Given the description of an element on the screen output the (x, y) to click on. 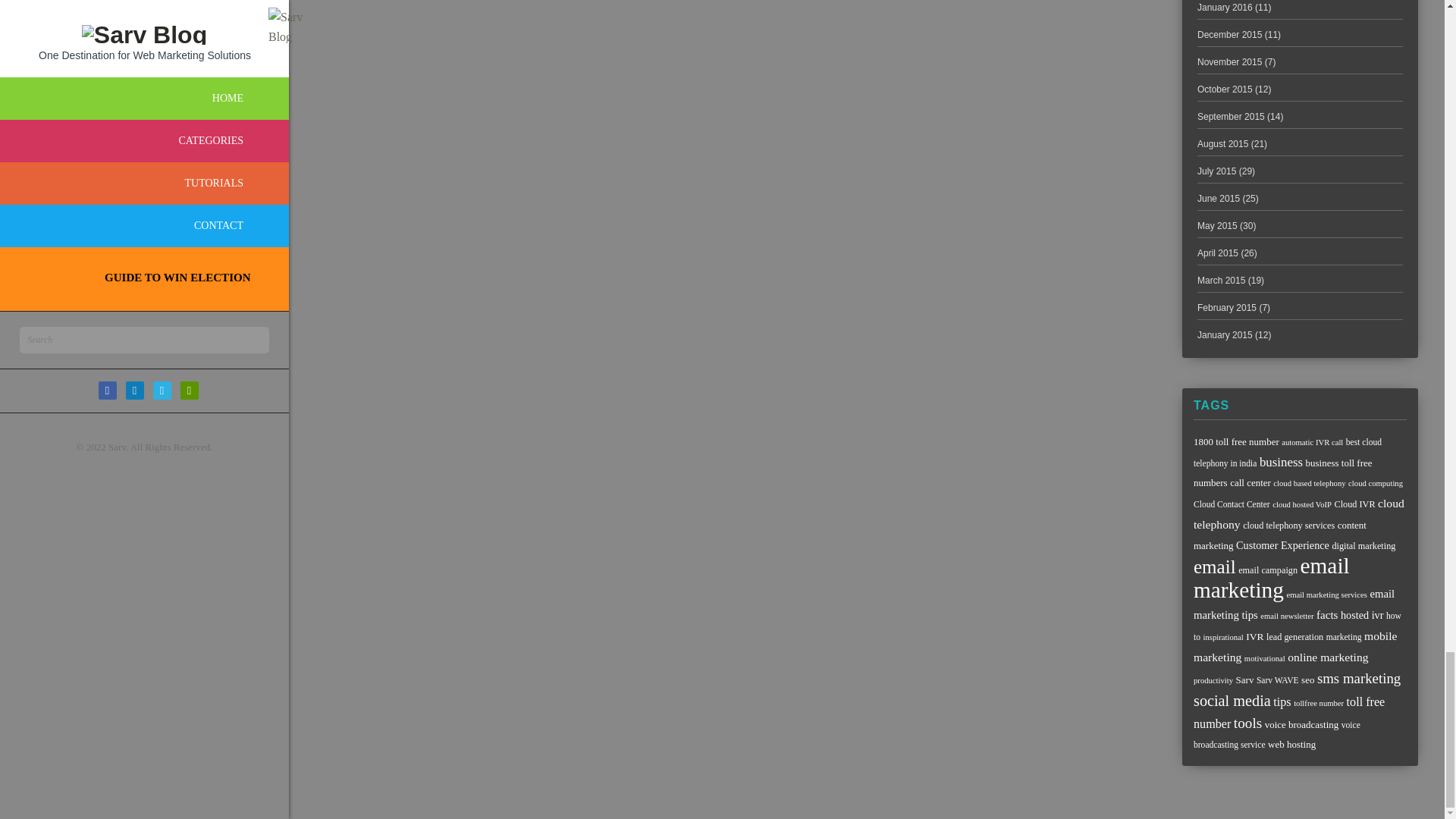
10 topics (1289, 525)
16 topics (1299, 513)
9 topics (1287, 452)
8 topics (1308, 483)
11 topics (1282, 472)
19 topics (1281, 462)
8 topics (1311, 442)
8 topics (1302, 504)
10 topics (1353, 503)
11 topics (1250, 482)
